Given the description of an element on the screen output the (x, y) to click on. 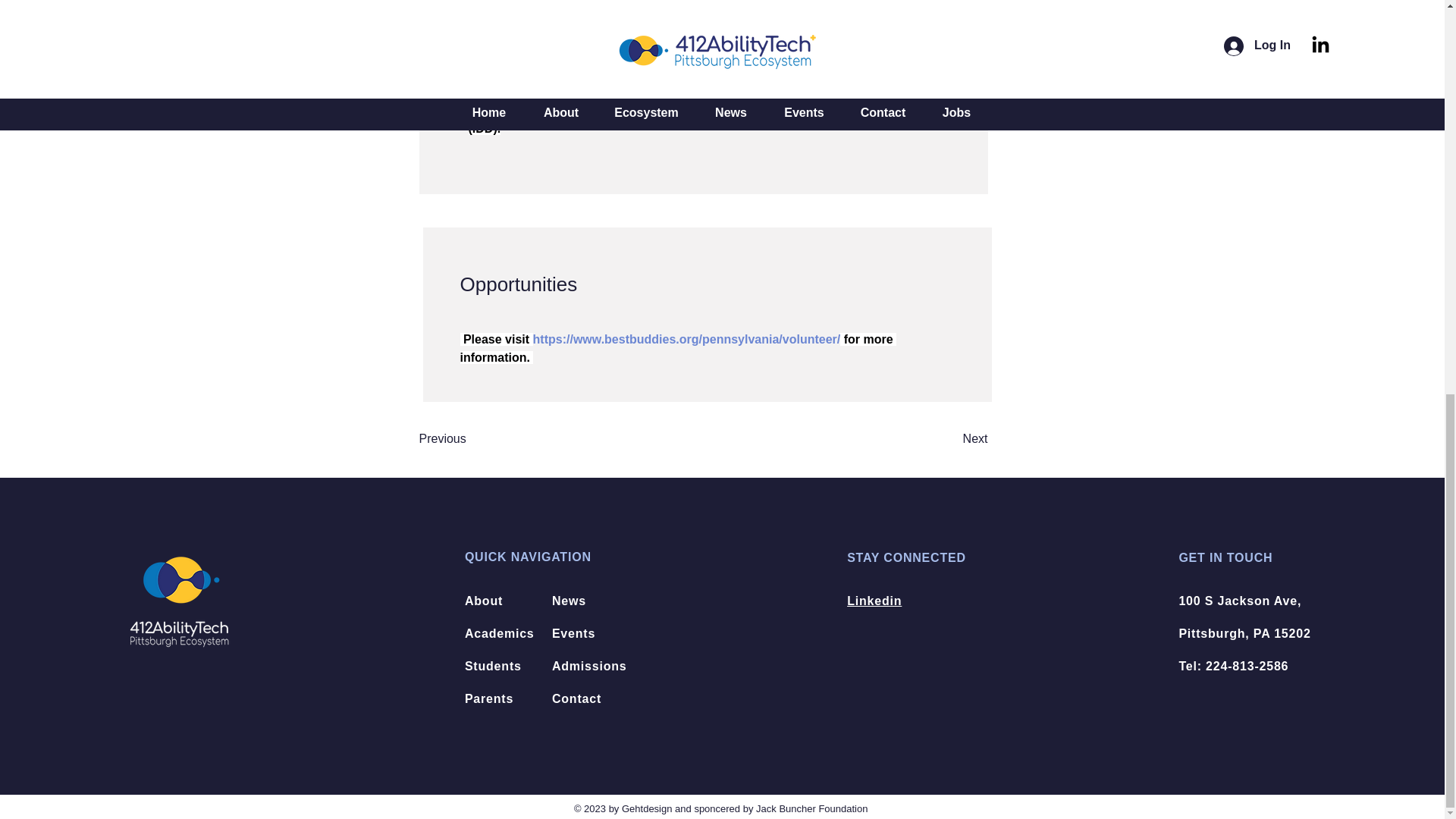
About (483, 600)
Next (949, 440)
Contact (576, 698)
Students (492, 666)
News (568, 600)
Events (573, 633)
Admissions (589, 666)
Linkedin (874, 600)
Academics (499, 633)
Parents (488, 698)
Previous (467, 440)
